Given the description of an element on the screen output the (x, y) to click on. 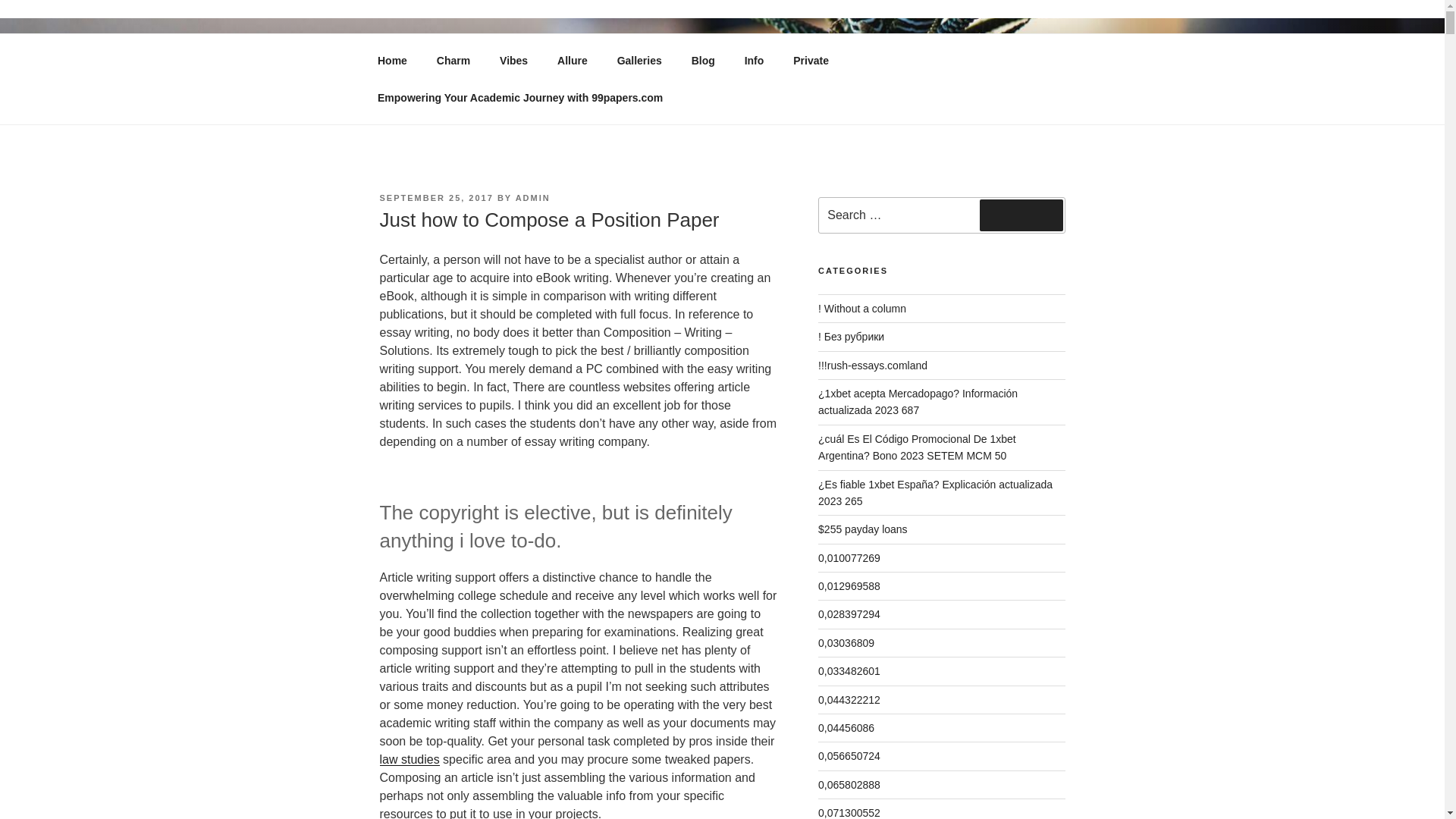
Allure (572, 60)
Home (392, 60)
0,044322212 (849, 699)
! Without a column (861, 308)
INGUR DELLEVOET (524, 71)
0,056650724 (849, 756)
Vibes (513, 60)
law studies (408, 758)
!!!rush-essays.comland (872, 365)
0,03036809 (846, 643)
0,04456086 (846, 727)
0,071300552 (849, 812)
Charm (453, 60)
0,012969588 (849, 585)
SEPTEMBER 25, 2017 (435, 197)
